Given the description of an element on the screen output the (x, y) to click on. 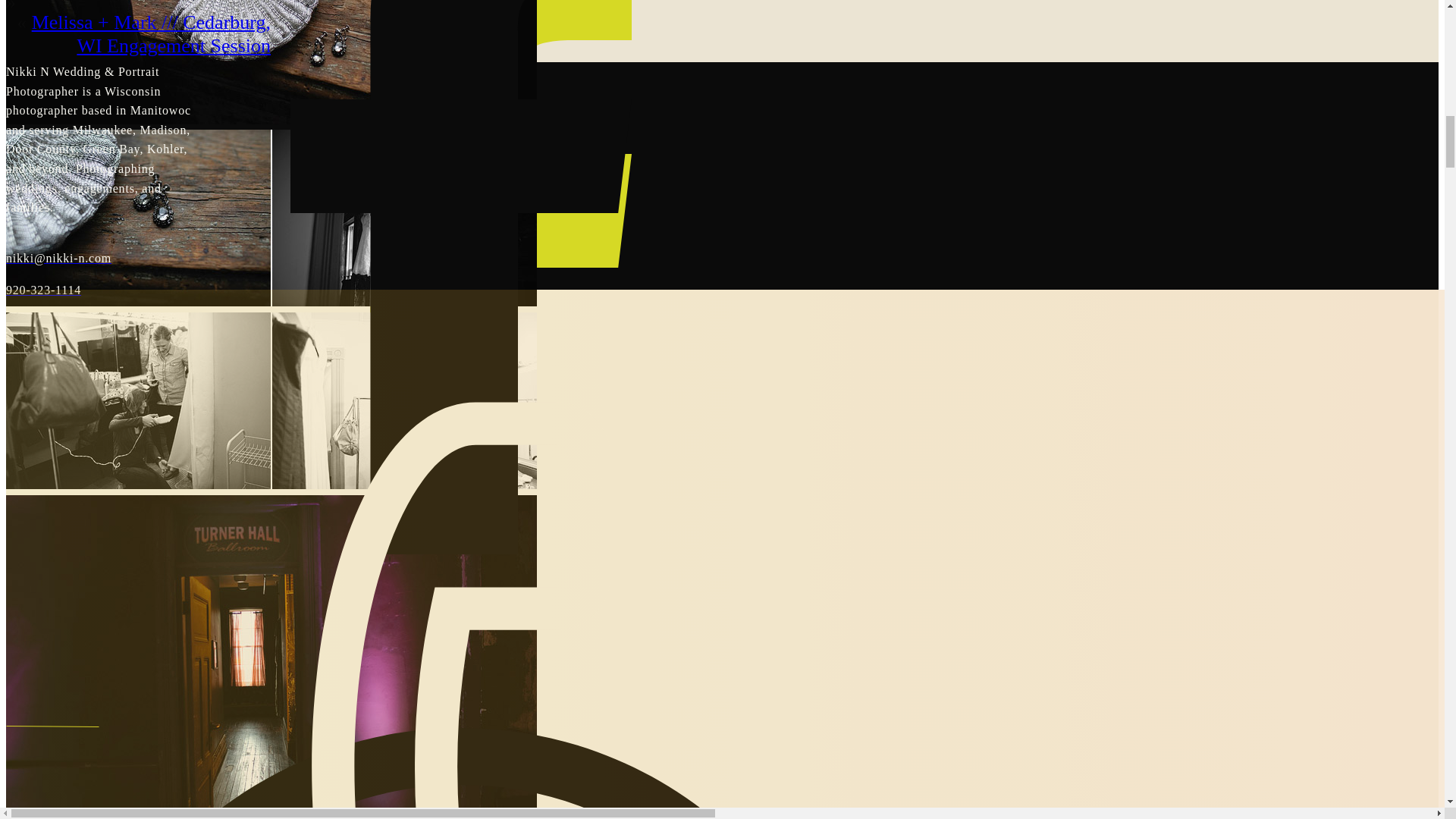
016 (271, 400)
006 (271, 217)
005 (271, 62)
Personal (460, 748)
Seniors (460, 780)
Families (460, 810)
